Given the description of an element on the screen output the (x, y) to click on. 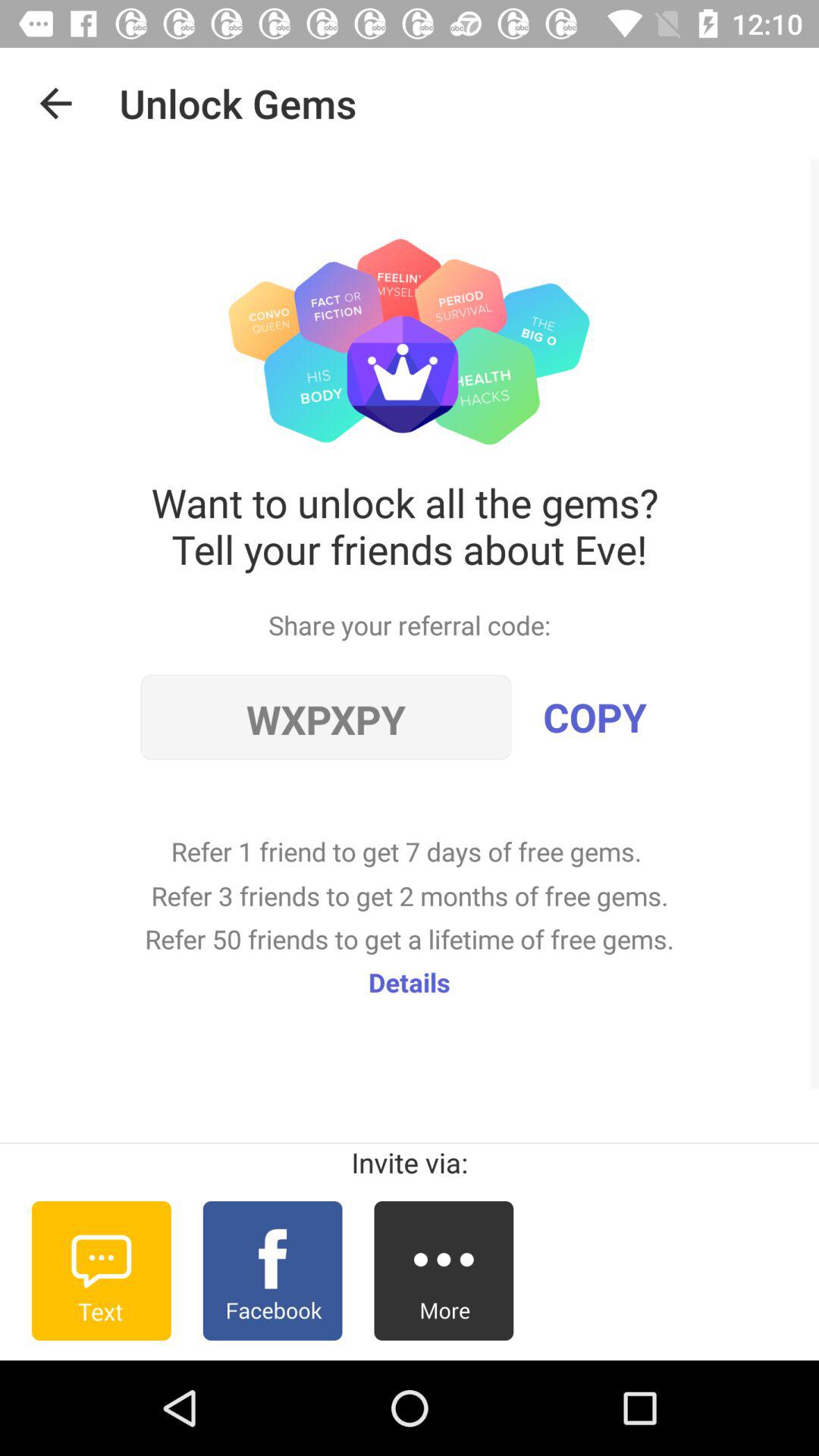
turn on icon below the invite via: item (443, 1270)
